Given the description of an element on the screen output the (x, y) to click on. 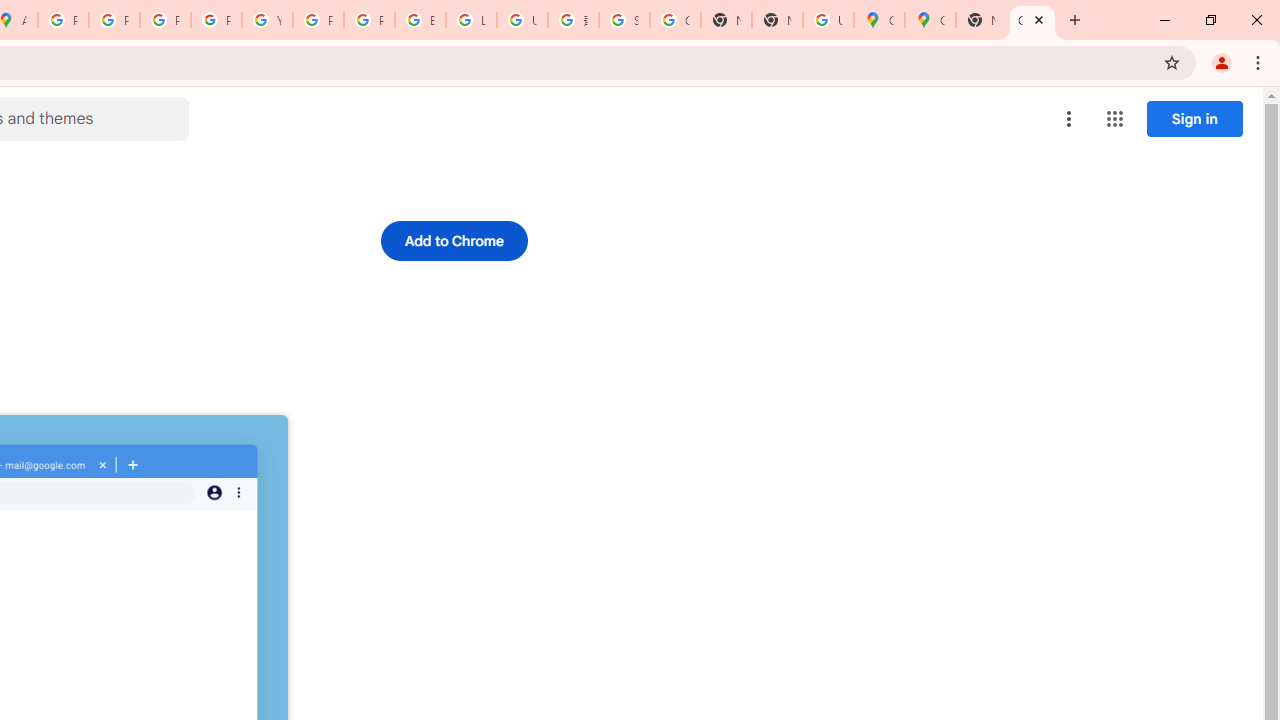
Privacy Help Center - Policies Help (164, 20)
